Given the description of an element on the screen output the (x, y) to click on. 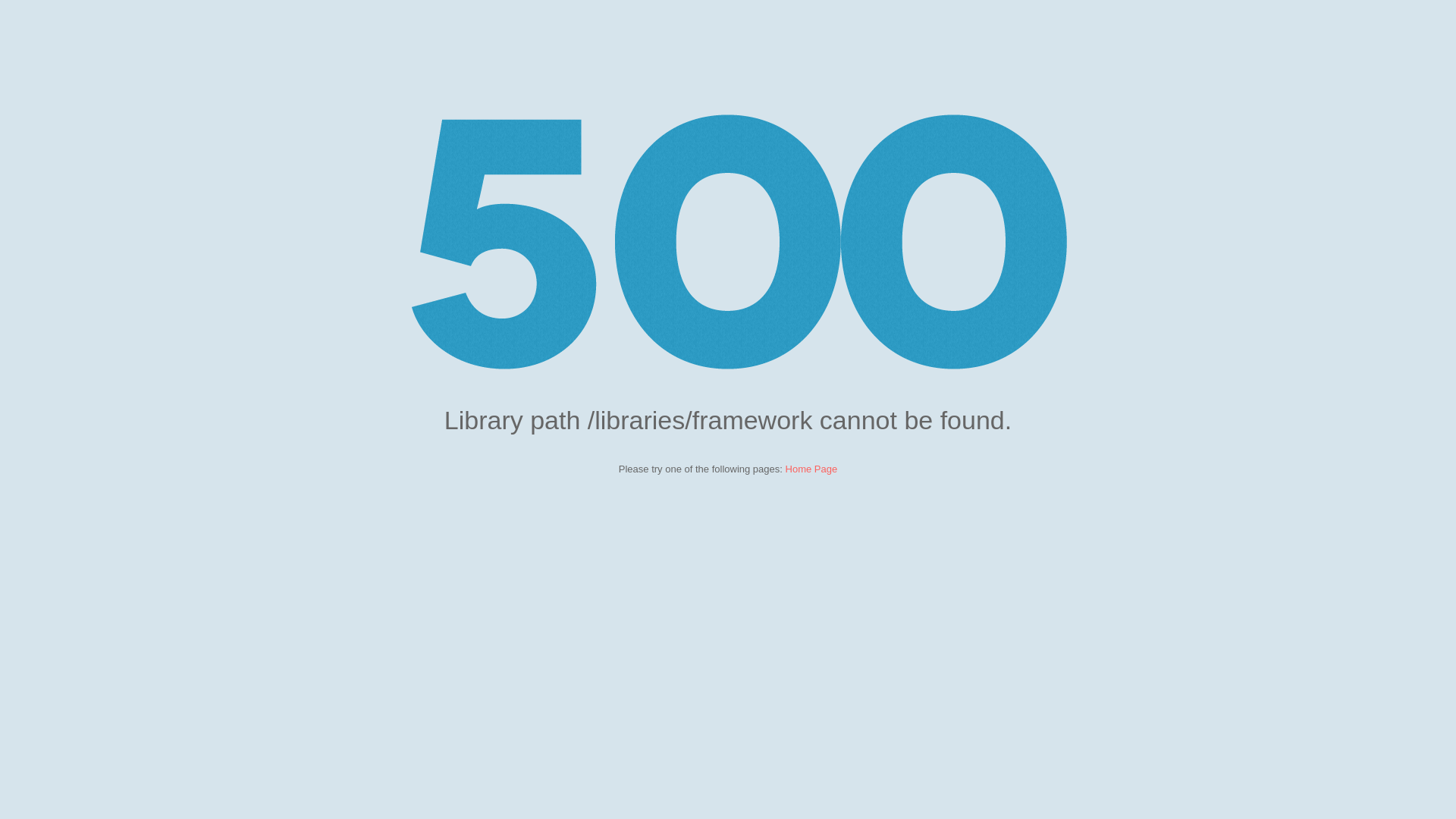
Home Page Element type: text (811, 468)
